Given the description of an element on the screen output the (x, y) to click on. 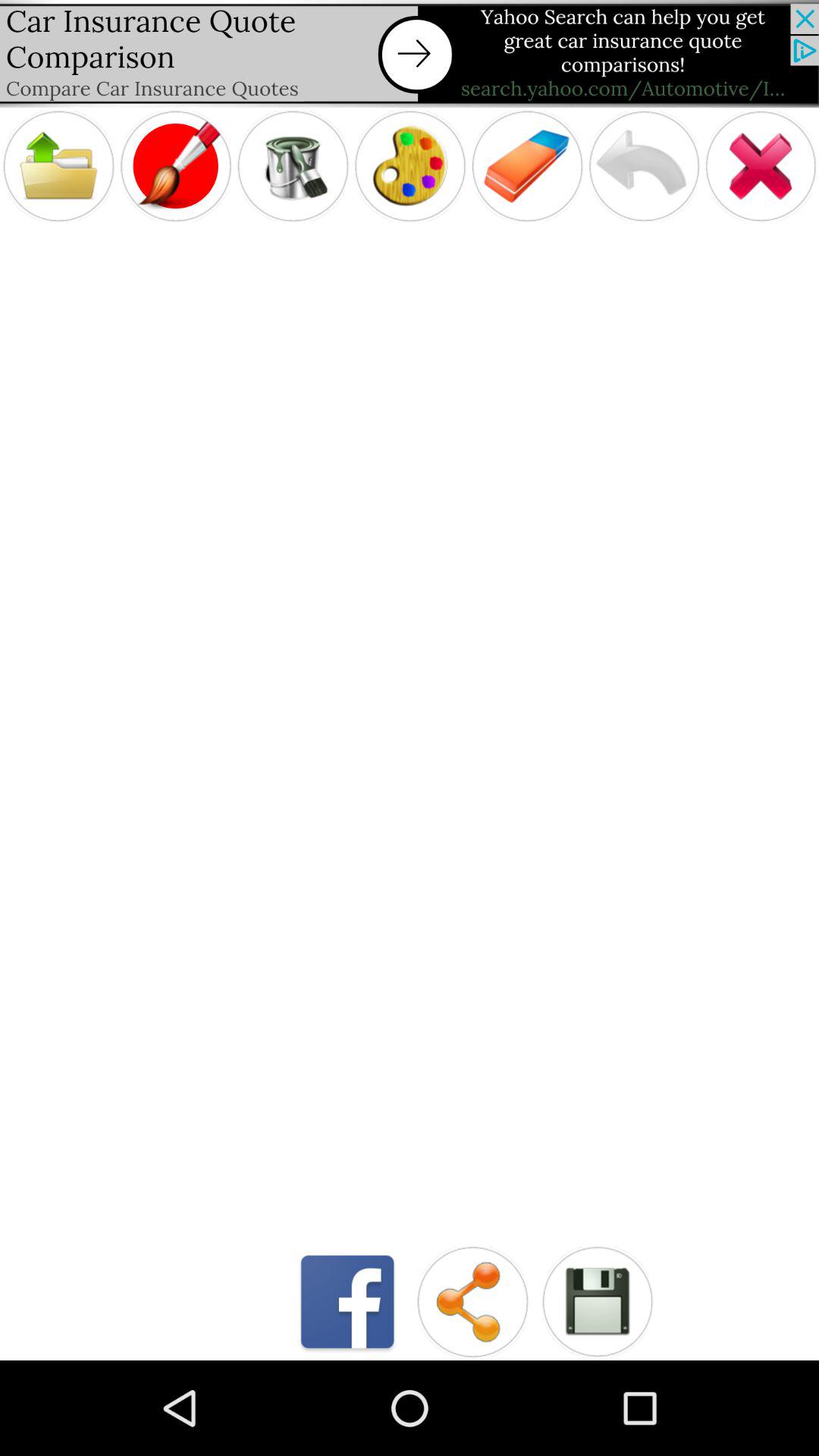
open file (58, 165)
